Given the description of an element on the screen output the (x, y) to click on. 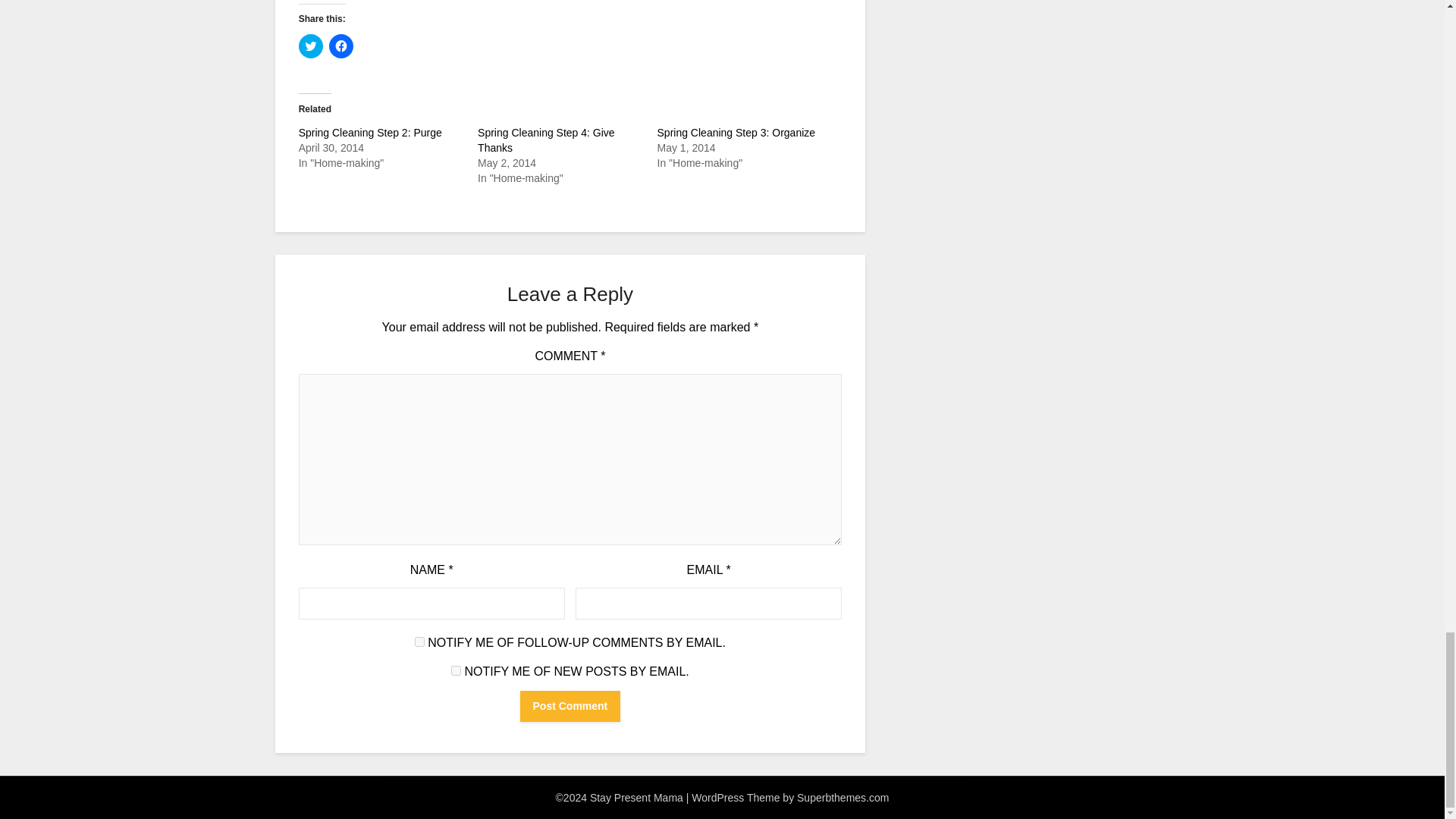
Click to share on Facebook (341, 46)
Post Comment (570, 706)
Spring Cleaning Step 4: Give Thanks (545, 139)
Spring Cleaning Step 3: Organize (736, 132)
subscribe (419, 642)
Post Comment (570, 706)
Click to share on Twitter (310, 46)
Spring Cleaning Step 3: Organize (736, 132)
subscribe (456, 670)
Spring Cleaning Step 2: Purge (370, 132)
